Given the description of an element on the screen output the (x, y) to click on. 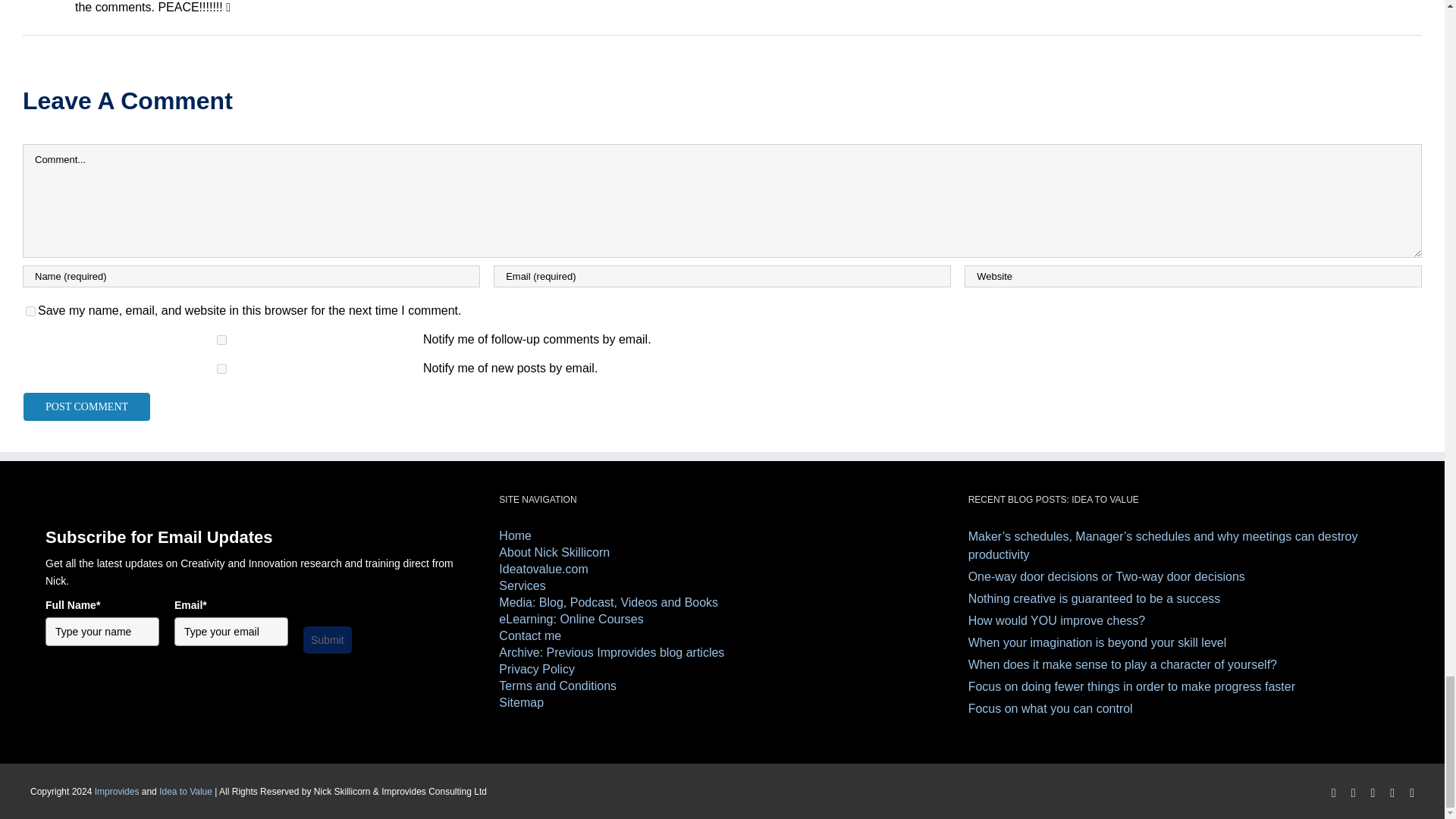
Media: Blog, Podcast, Videos and Books (721, 602)
Home (721, 535)
subscribe (221, 368)
Idea to value (721, 569)
Post Comment (87, 406)
Services (721, 586)
About Nick Skillicorn (721, 552)
yes (30, 311)
eLearning (721, 619)
Archive: Previous Improvides blog articles (721, 652)
